Given the description of an element on the screen output the (x, y) to click on. 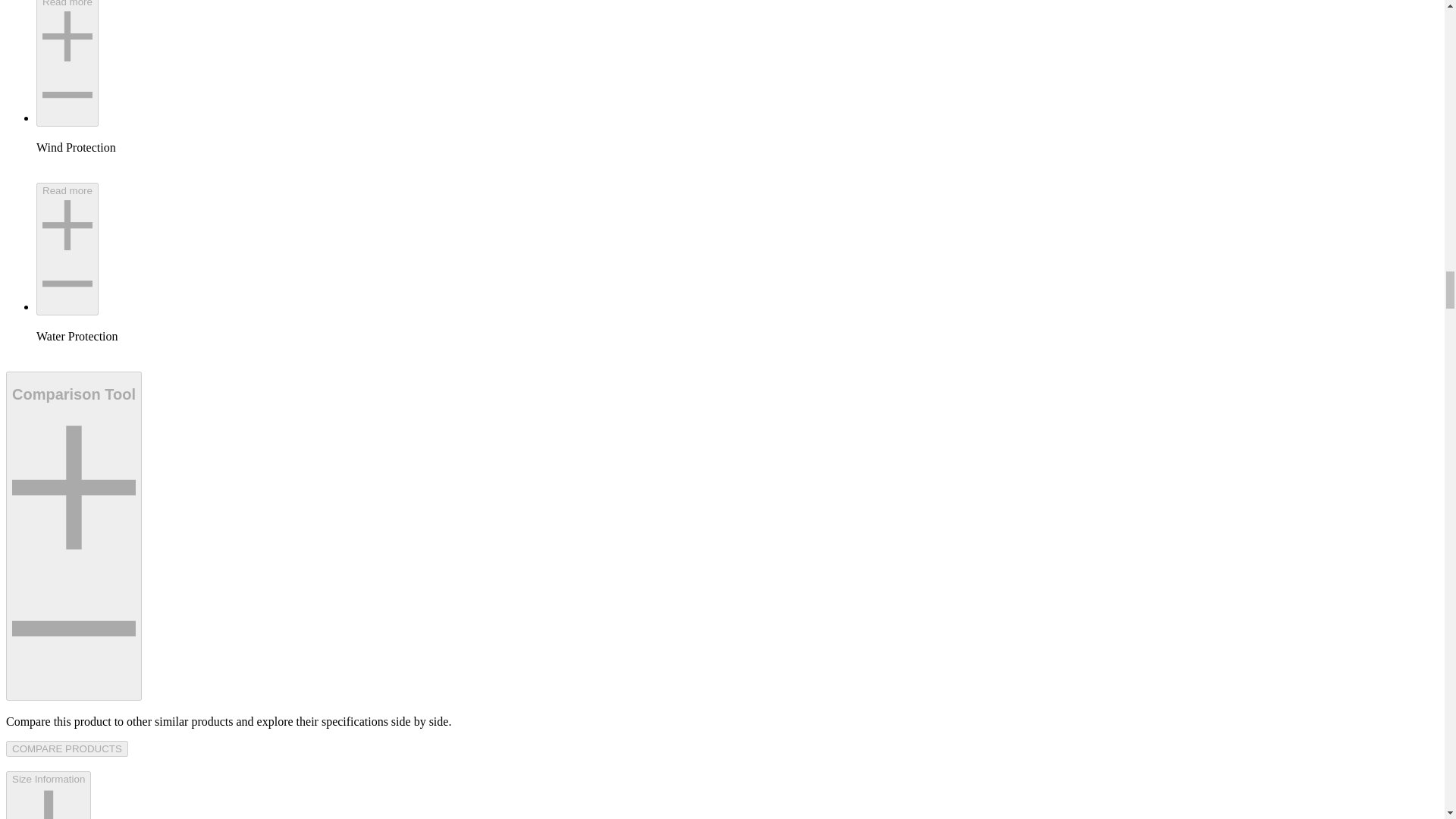
Size Information (47, 795)
COMPARE PRODUCTS (66, 748)
